Given the description of an element on the screen output the (x, y) to click on. 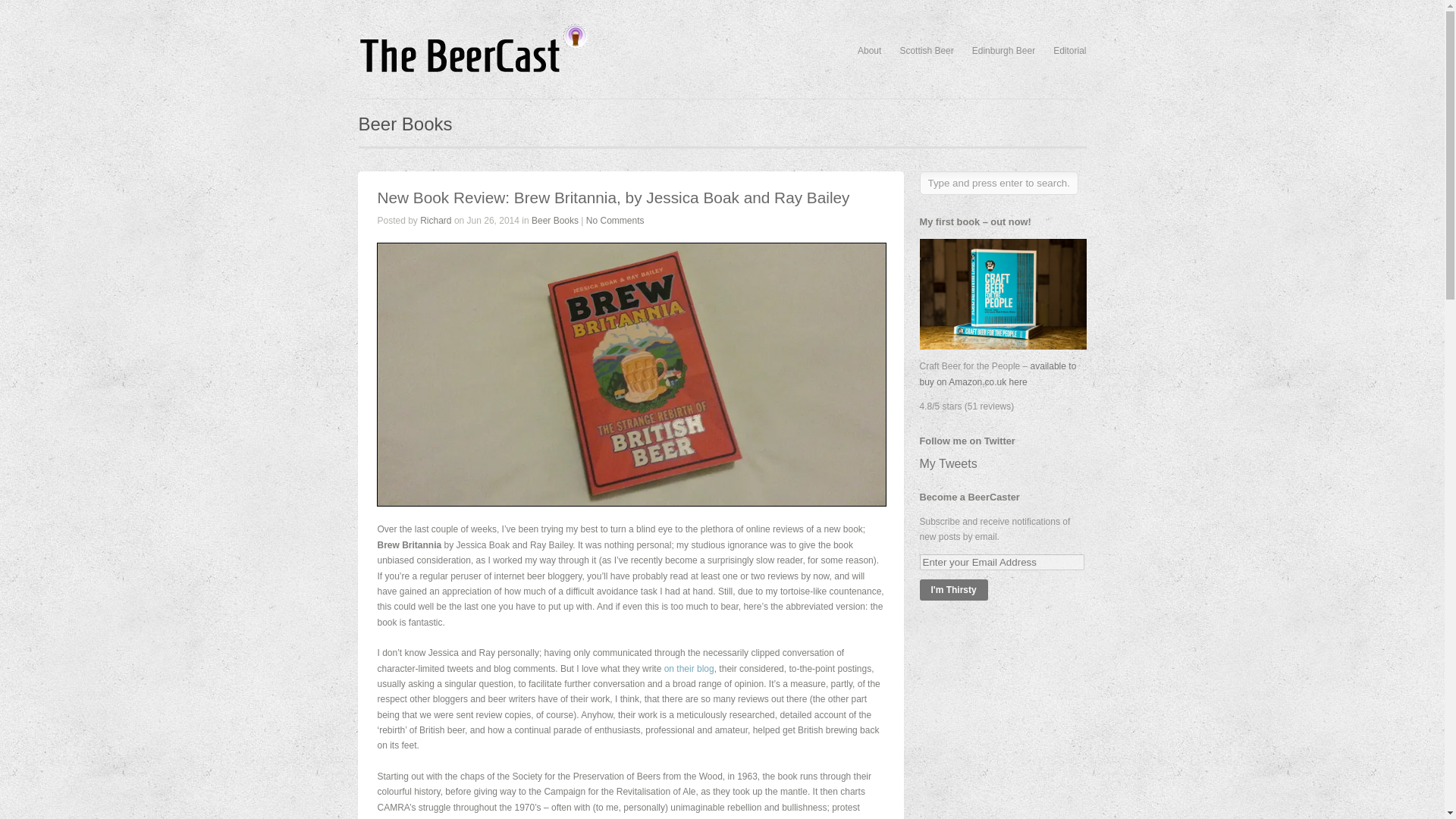
Beer Books (554, 220)
Edinburgh Beer (1003, 50)
Scottish Beer (926, 50)
Type and press enter to search. (997, 182)
available to buy on Amazon.co.uk here (996, 373)
About (868, 50)
on their blog (688, 668)
Posts by Richard (435, 220)
No Comments (615, 220)
Editorial (1069, 50)
I'm Thirsty (952, 589)
My Tweets (947, 463)
I'm Thirsty (952, 589)
Richard (435, 220)
